Given the description of an element on the screen output the (x, y) to click on. 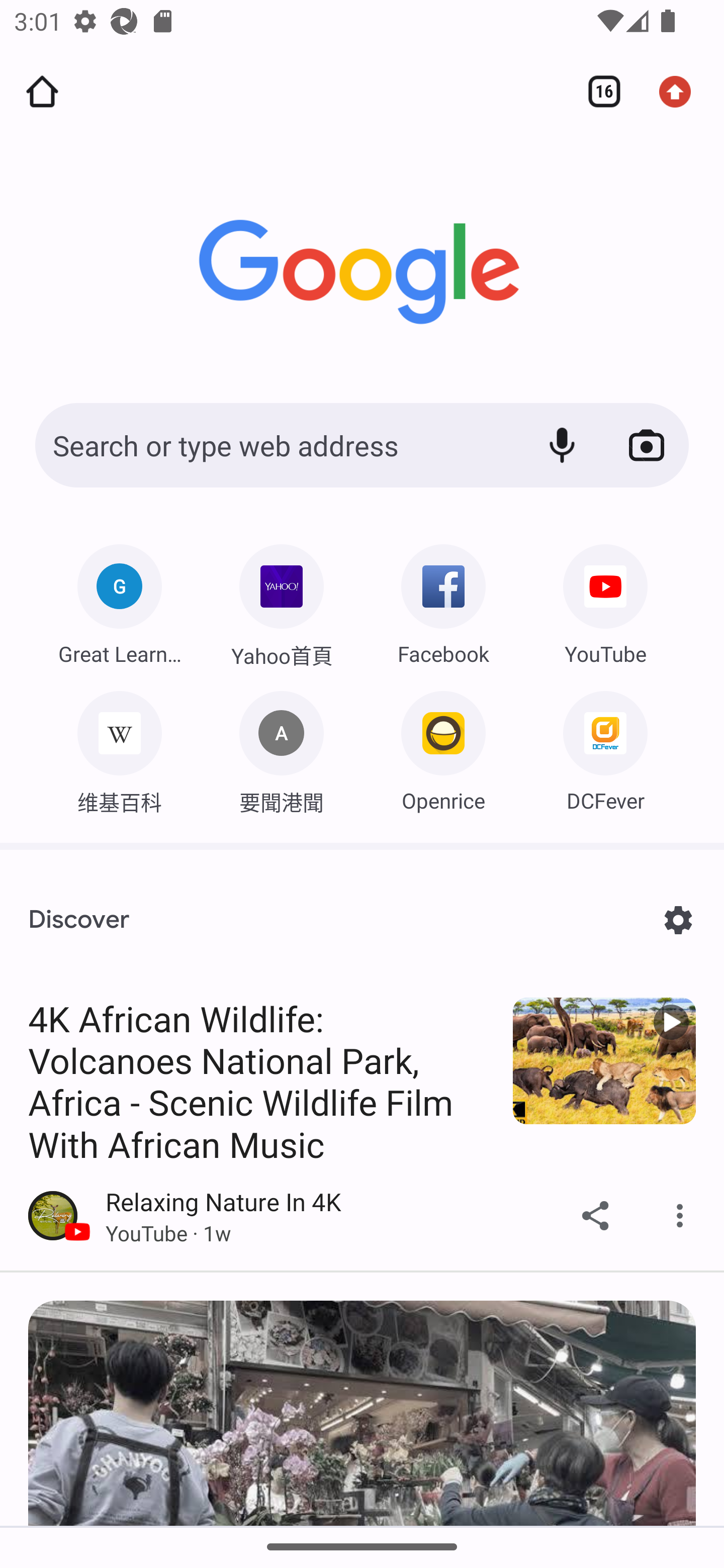
Home (42, 91)
Switch or close tabs (597, 91)
Update available. More options (681, 91)
Search or type web address (275, 444)
Start voice search (561, 444)
Search with your camera using Google Lens (646, 444)
Great Learning Education Centre (119, 599)
Yahoo首頁 (281, 601)
Facebook (443, 599)
YouTube (605, 599)
维基百科 (119, 746)
要聞港聞 (281, 746)
Openrice (443, 746)
DCFever (605, 746)
Options for Discover (677, 919)
